Given the description of an element on the screen output the (x, y) to click on. 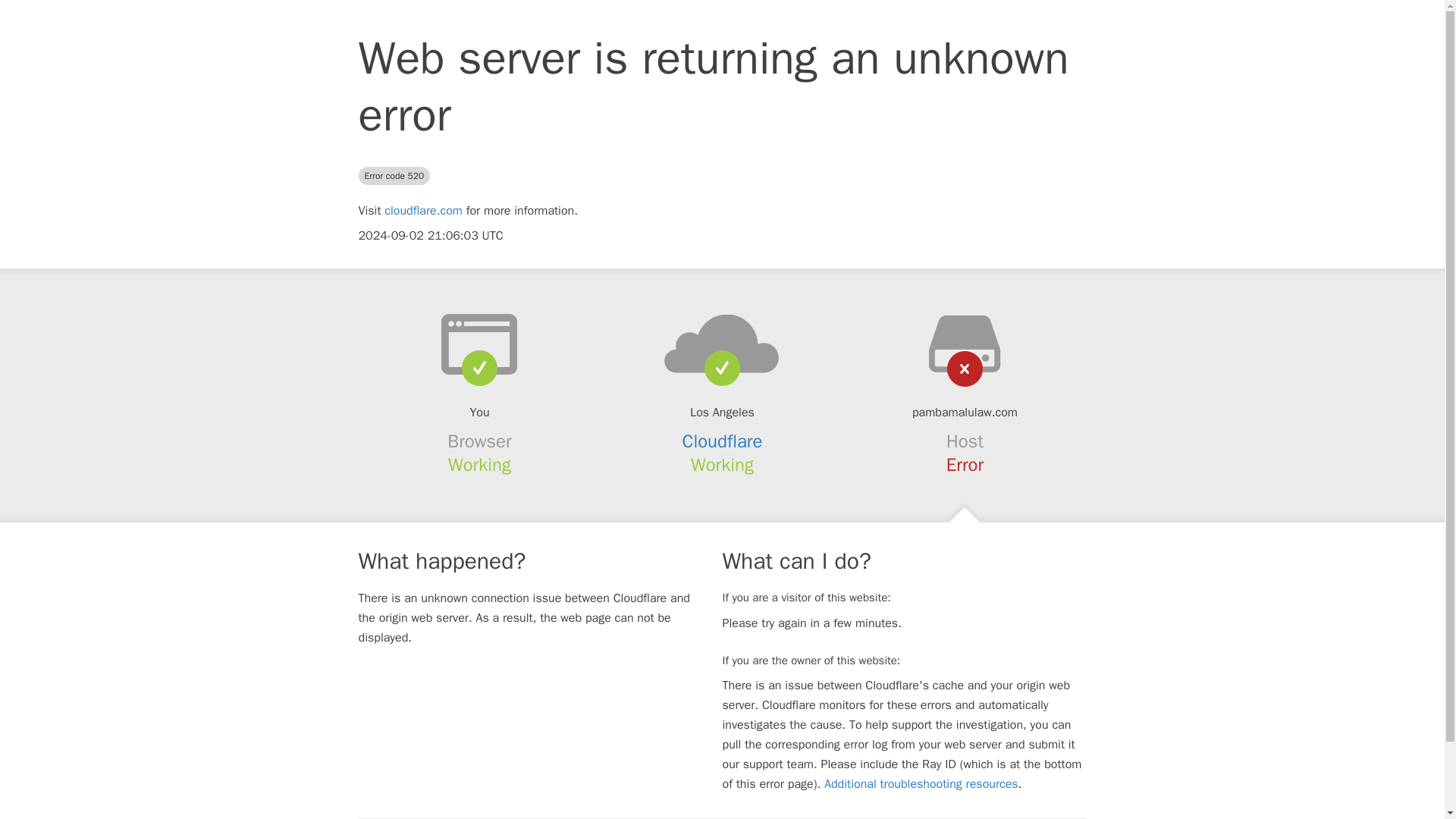
Additional troubleshooting resources (920, 783)
cloudflare.com (423, 210)
Cloudflare (722, 440)
